Given the description of an element on the screen output the (x, y) to click on. 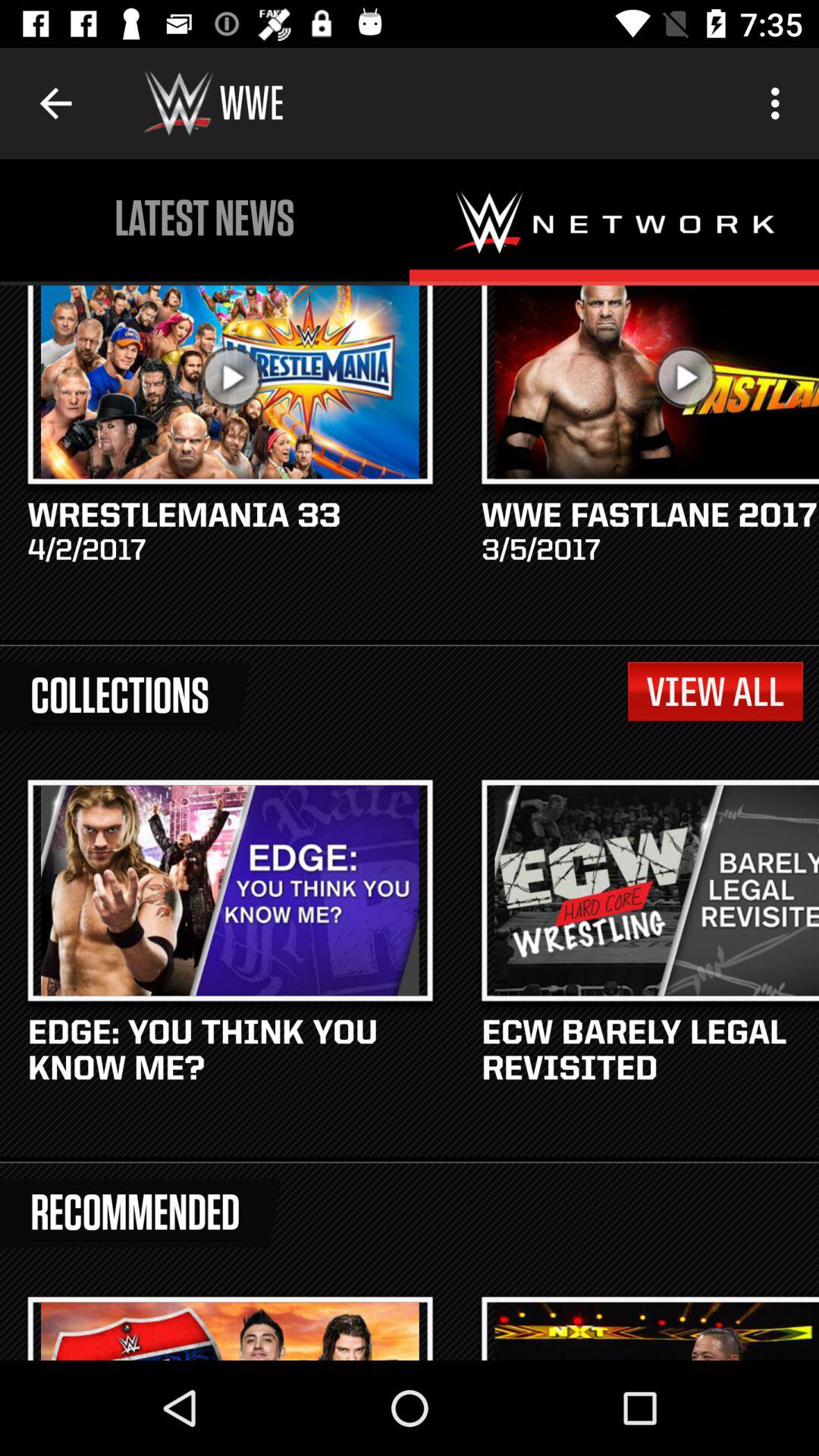
go to network (614, 222)
